Given the description of an element on the screen output the (x, y) to click on. 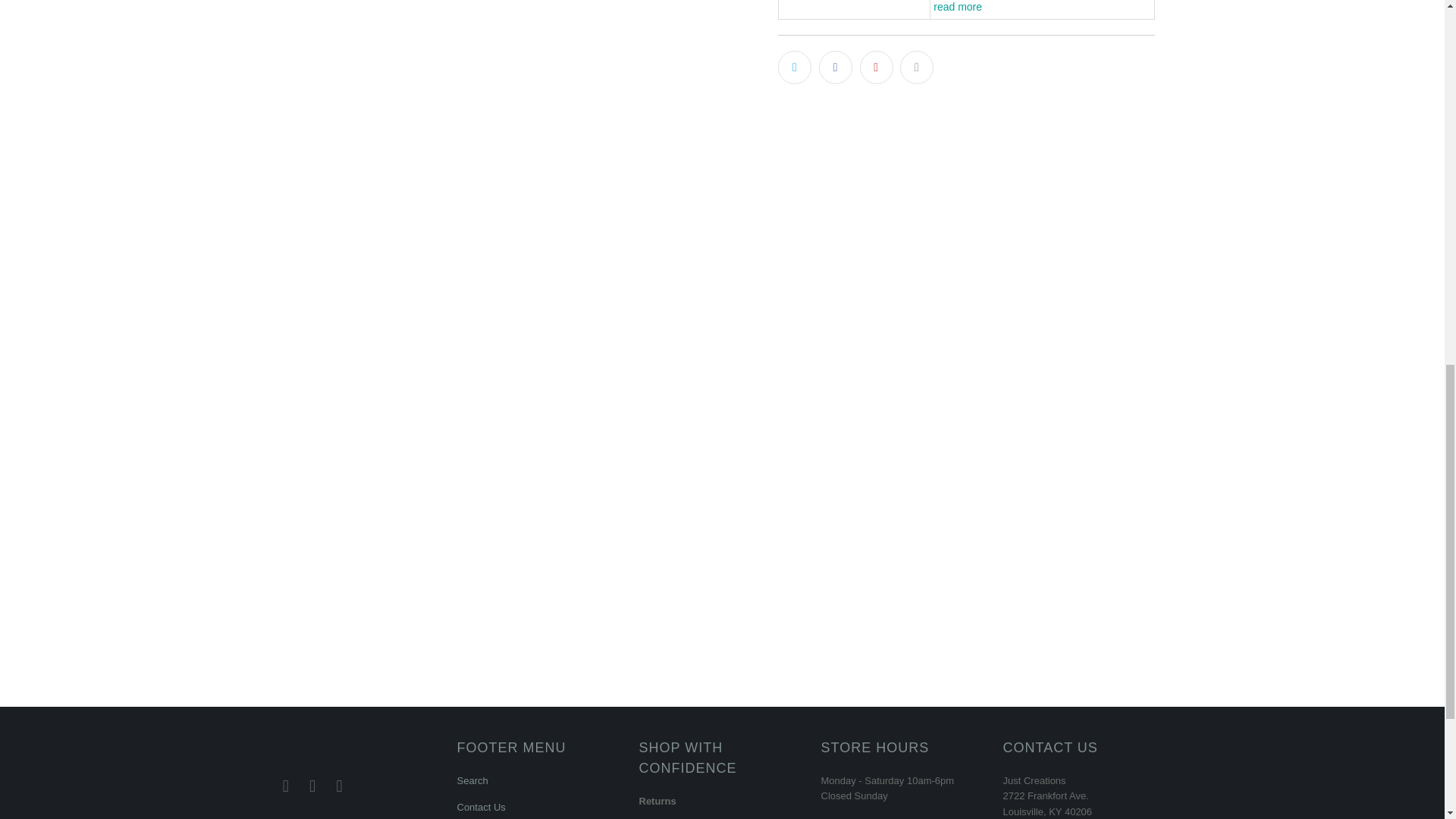
Share this on Facebook (834, 67)
Share this on Twitter (793, 67)
Email this to a friend (916, 67)
Share this on Pinterest (876, 67)
